Given the description of an element on the screen output the (x, y) to click on. 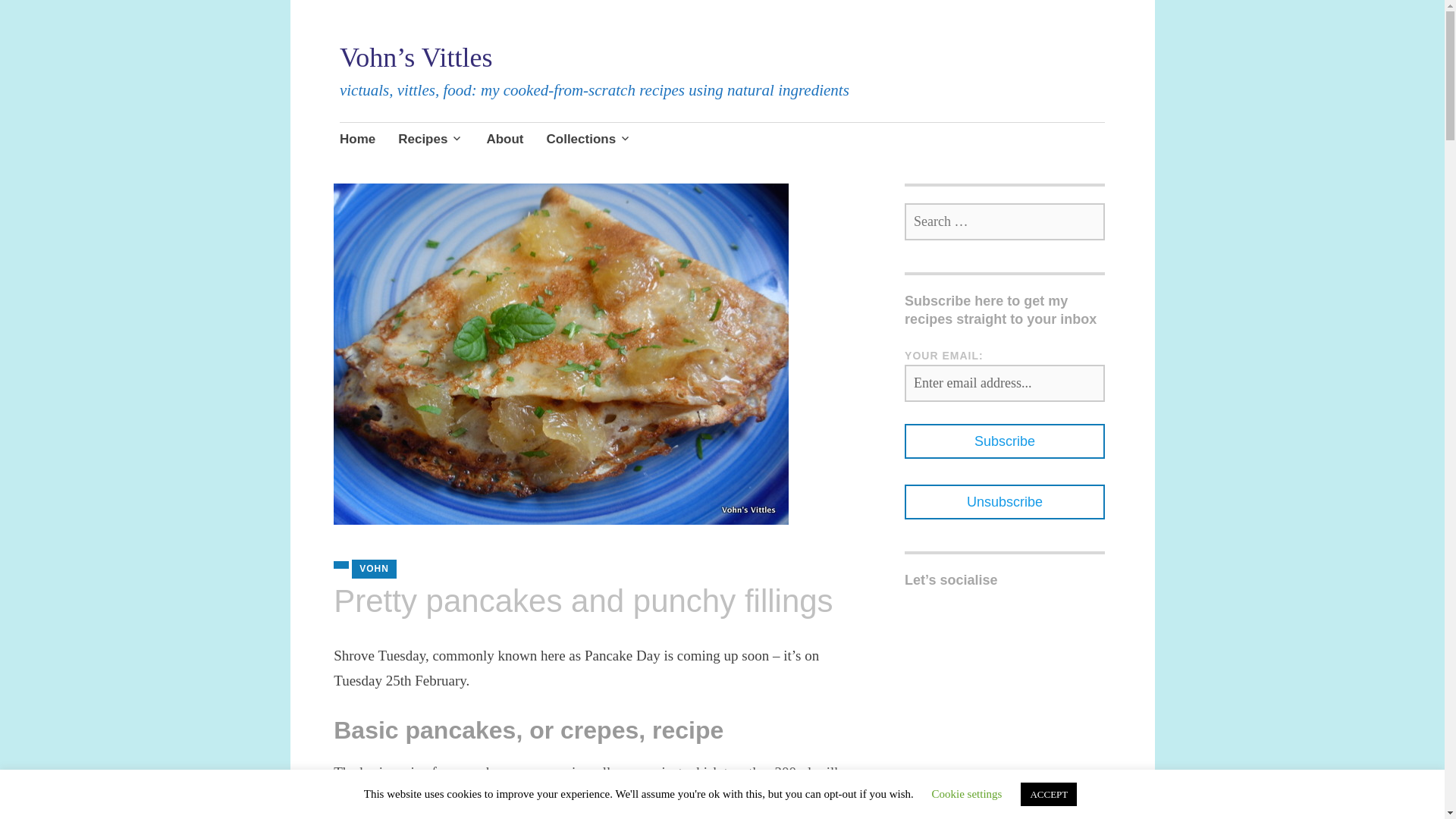
About (504, 140)
Subscribe (1004, 441)
Unsubscribe (1004, 501)
Home (357, 140)
Enter email address... (1004, 383)
VOHN (373, 568)
Recipes (430, 140)
Collections (588, 140)
